Given the description of an element on the screen output the (x, y) to click on. 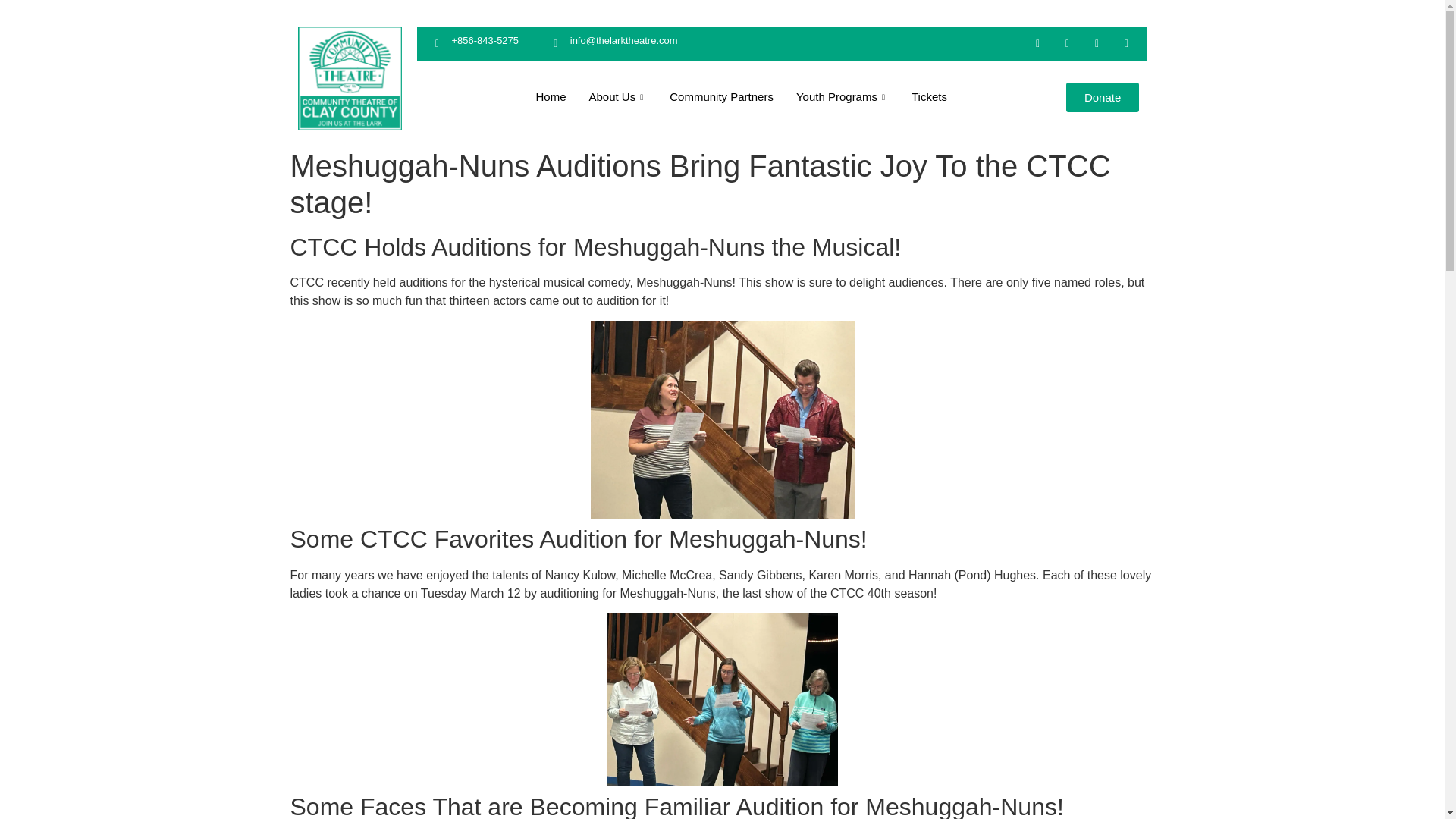
Home (550, 97)
Youth Programs (841, 97)
Donate (1101, 97)
Community Partners (721, 97)
About Us (618, 97)
Tickets (928, 97)
